Given the description of an element on the screen output the (x, y) to click on. 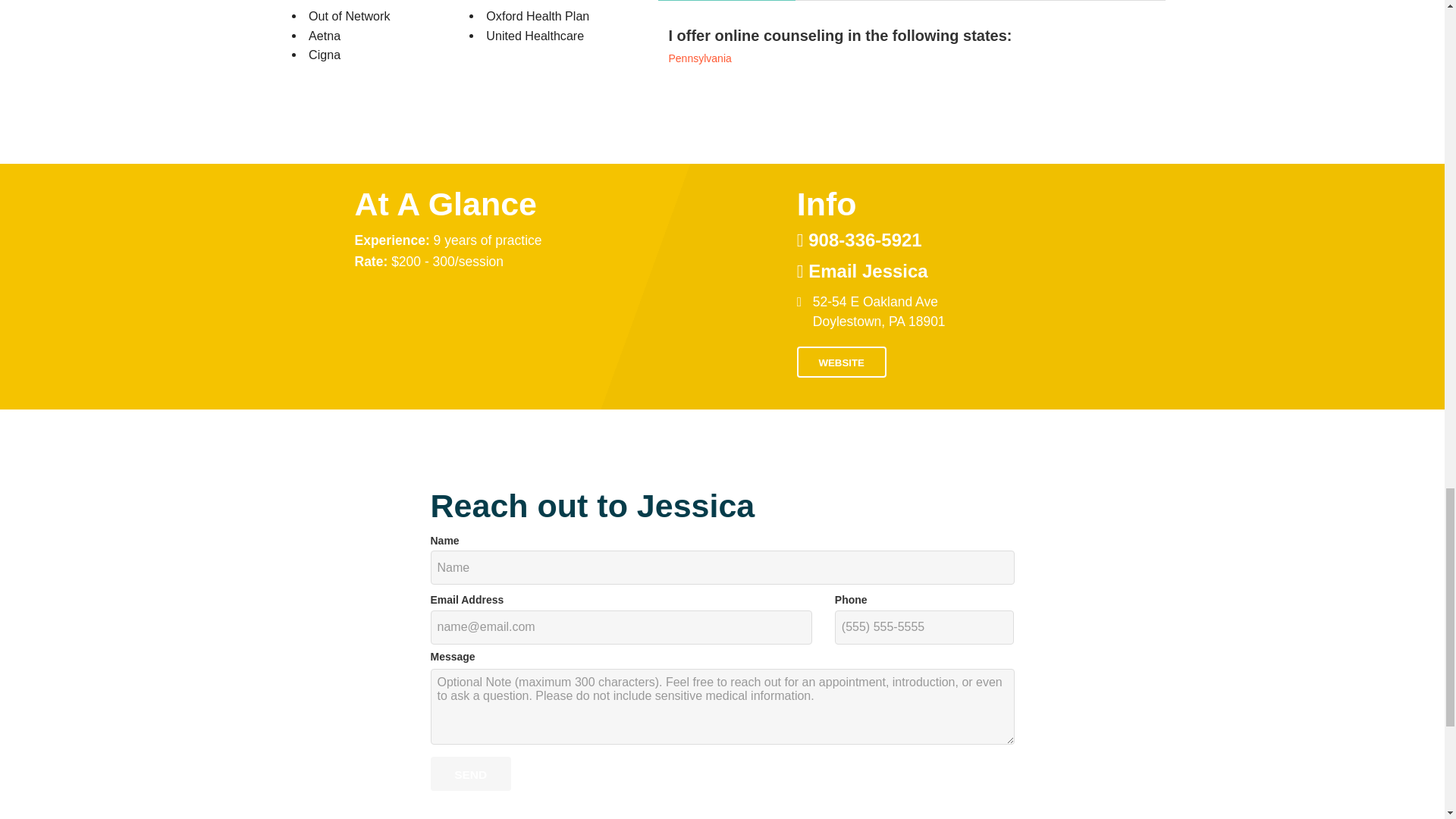
Send (470, 773)
